Given the description of an element on the screen output the (x, y) to click on. 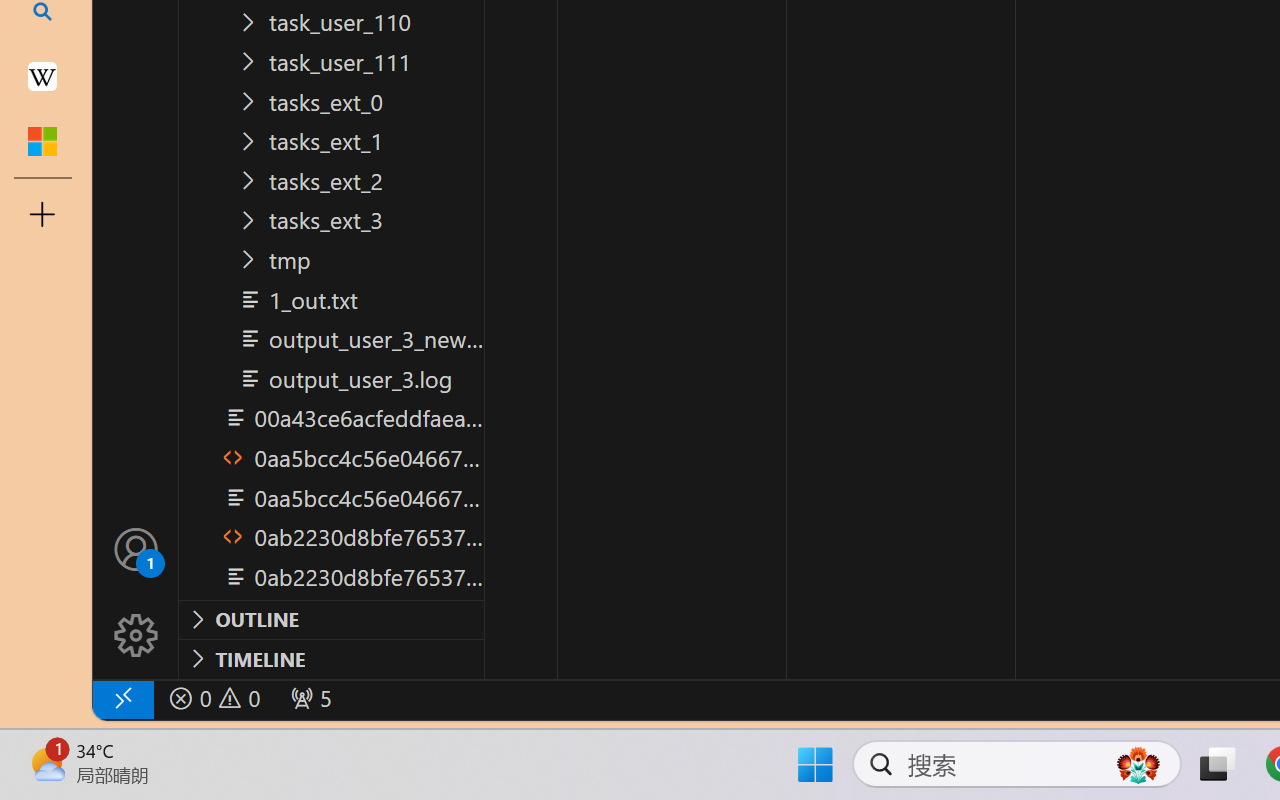
Manage (135, 591)
